Given the description of an element on the screen output the (x, y) to click on. 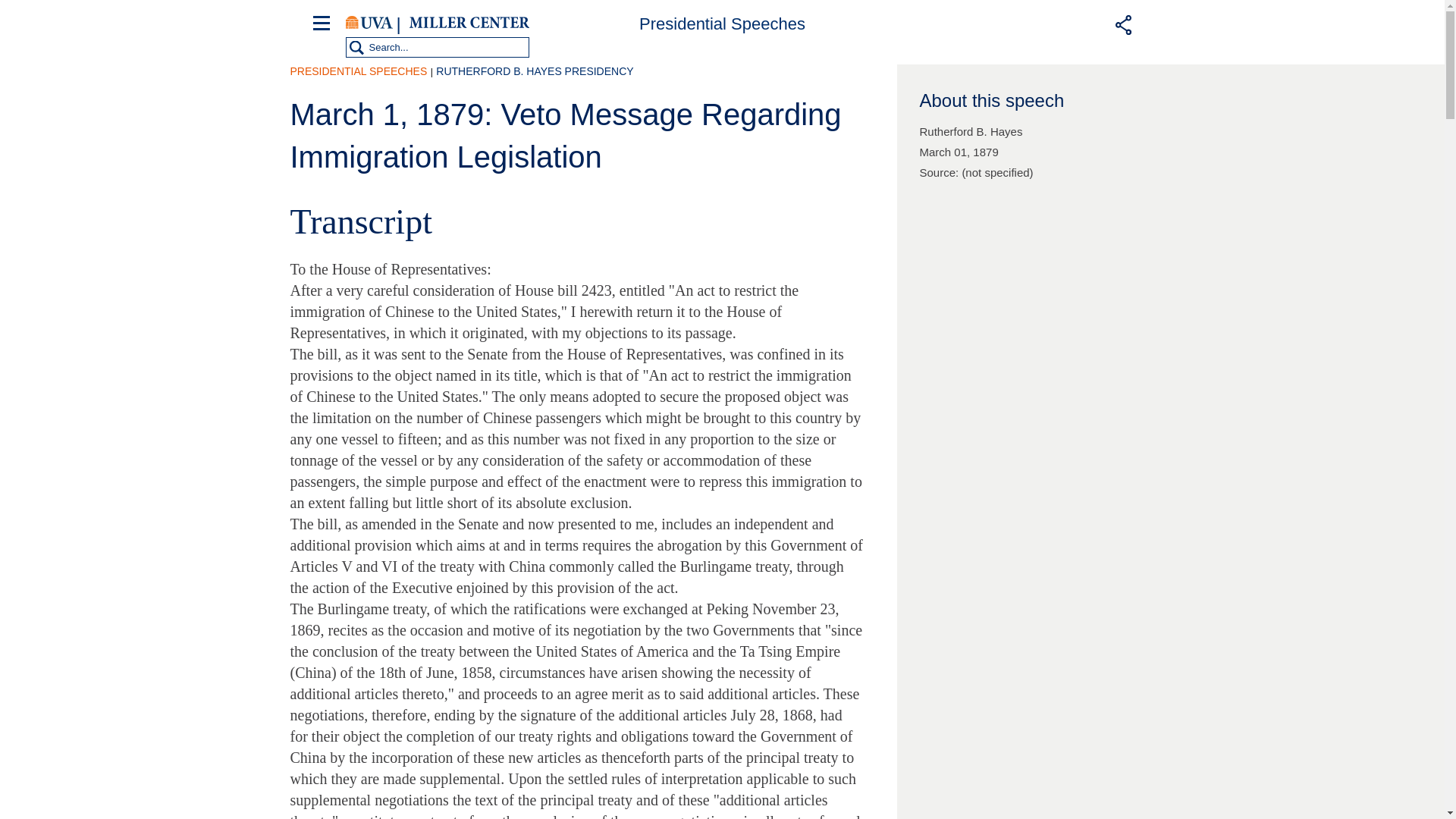
Home (469, 22)
University of Virginia (369, 22)
